Given the description of an element on the screen output the (x, y) to click on. 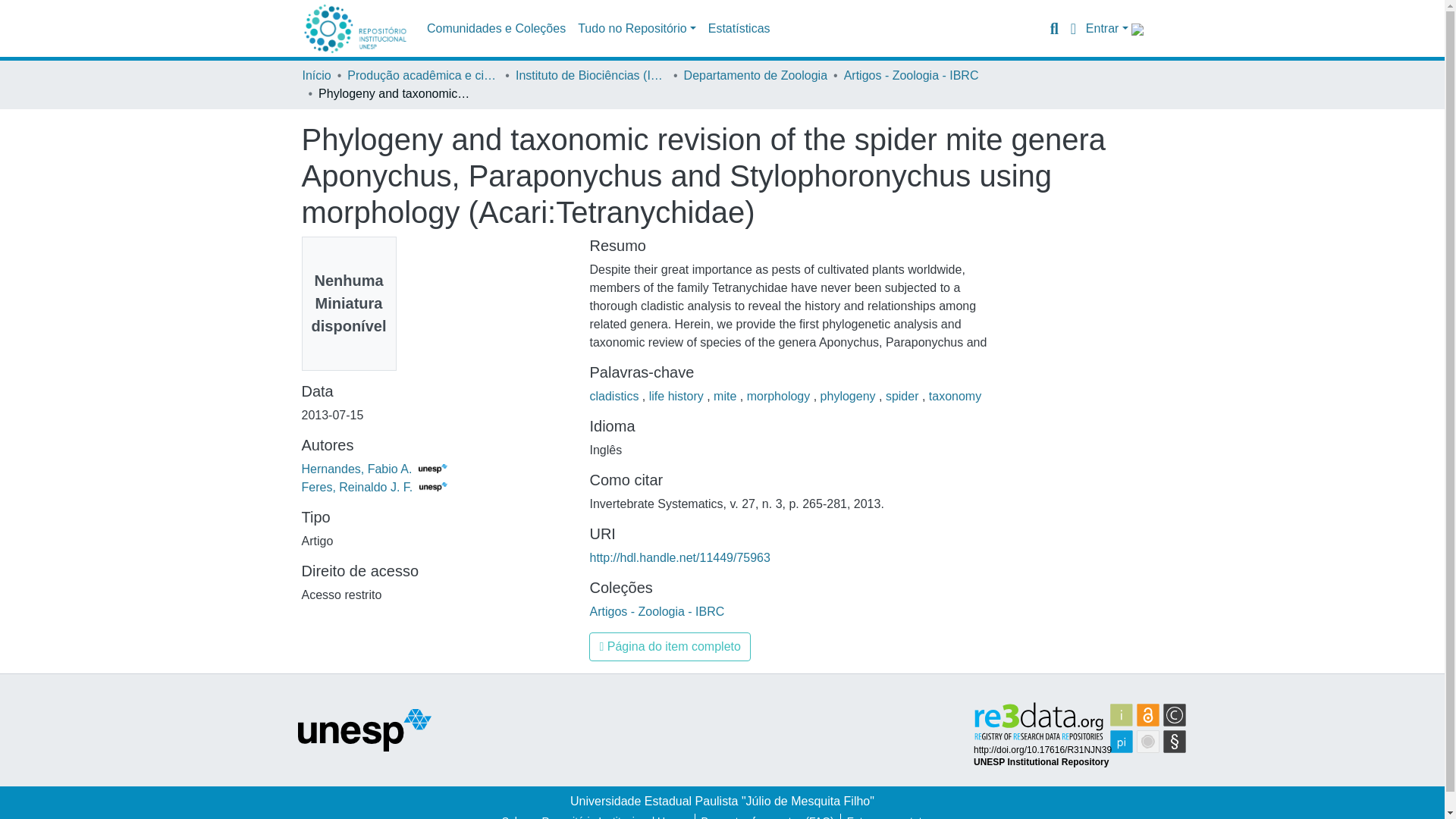
Artigos - Zoologia - IBRC (656, 611)
Feres, Reinaldo J. F. (374, 486)
Artigos - Zoologia - IBRC (911, 75)
spider (903, 395)
Departamento de Zoologia (755, 75)
Hernandes, Fabio A. (373, 468)
Alternar idioma (1073, 28)
taxonomy (954, 395)
life history (677, 395)
cladistics (615, 395)
mite (726, 395)
phylogeny (850, 395)
Entrar (1107, 28)
Entre em contato (887, 816)
morphology (779, 395)
